Given the description of an element on the screen output the (x, y) to click on. 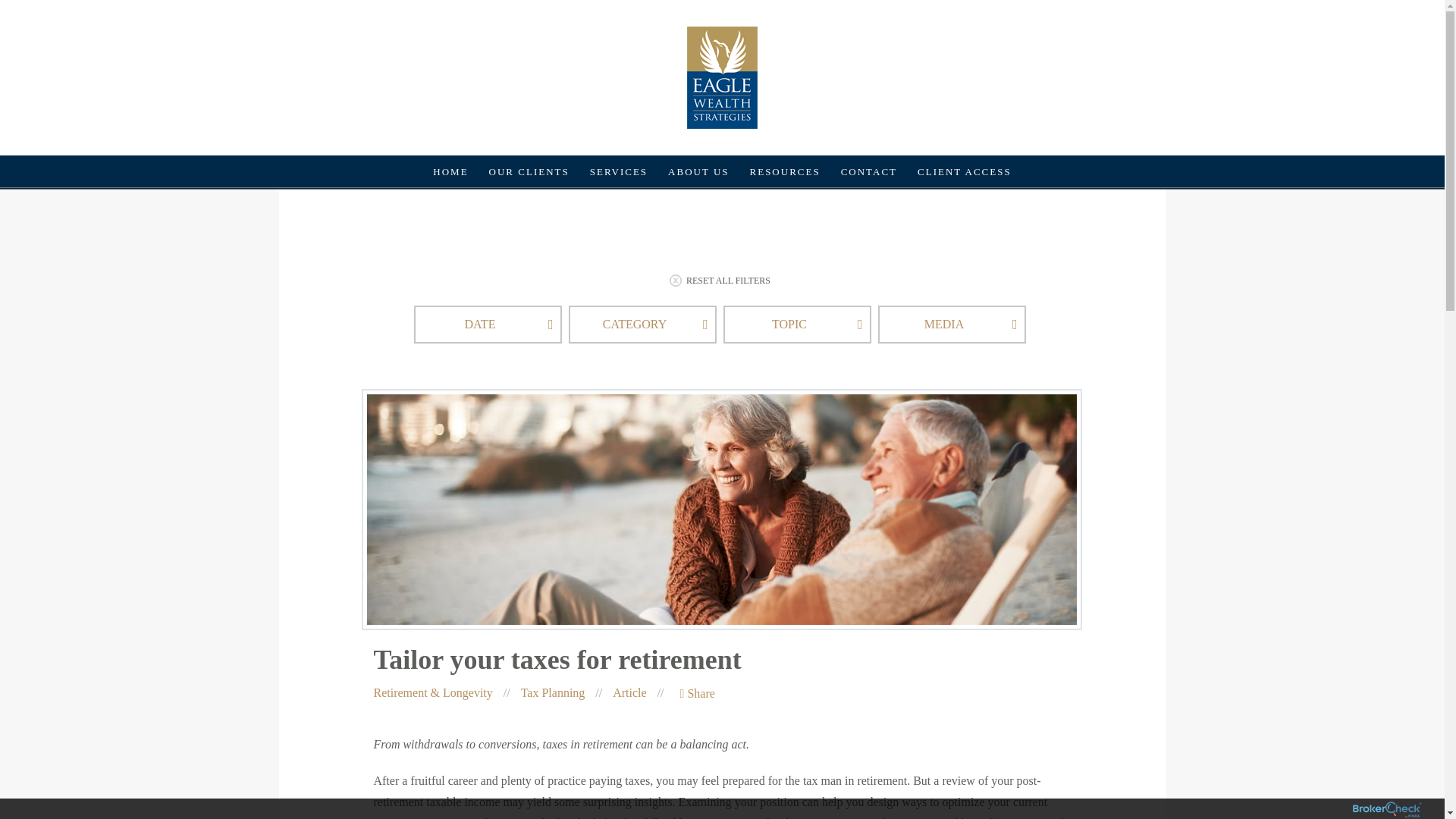
ABOUT US (698, 159)
CONTACT (868, 167)
LOGIN (922, 221)
SERVICES (618, 154)
RESOURCES (785, 166)
CLIENT ACCESS (964, 168)
